Given the description of an element on the screen output the (x, y) to click on. 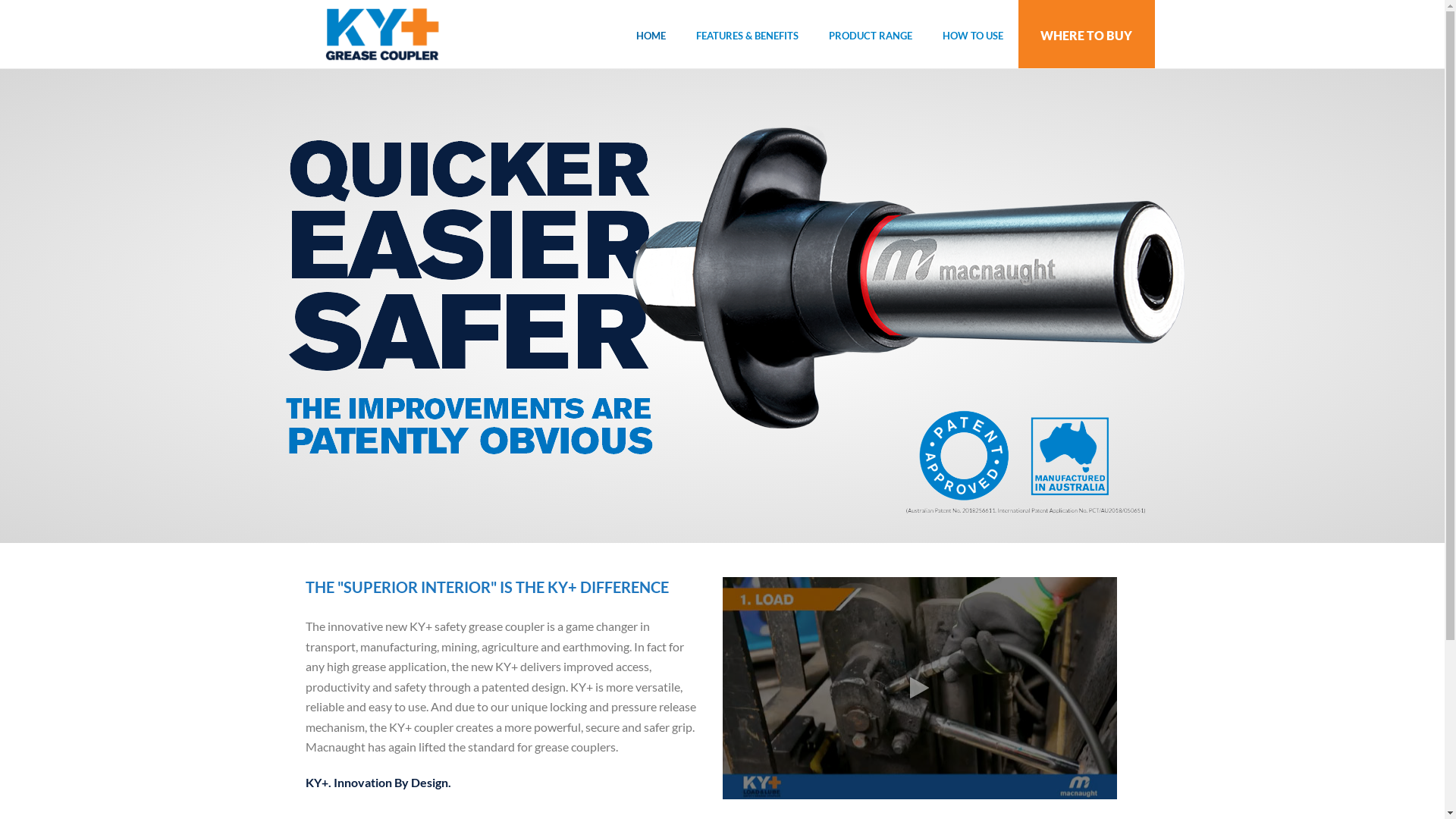
PRODUCT RANGE Element type: text (869, 34)
WHERE TO BUY Element type: text (1085, 34)
HOW TO USE Element type: text (971, 34)
HOME Element type: text (650, 34)
FEATURES & BENEFITS Element type: text (746, 34)
Versatile, reliable and easy to use Element type: hover (379, 34)
Macnaught KY+ Safety Grease Coupler Element type: hover (918, 688)
